Given the description of an element on the screen output the (x, y) to click on. 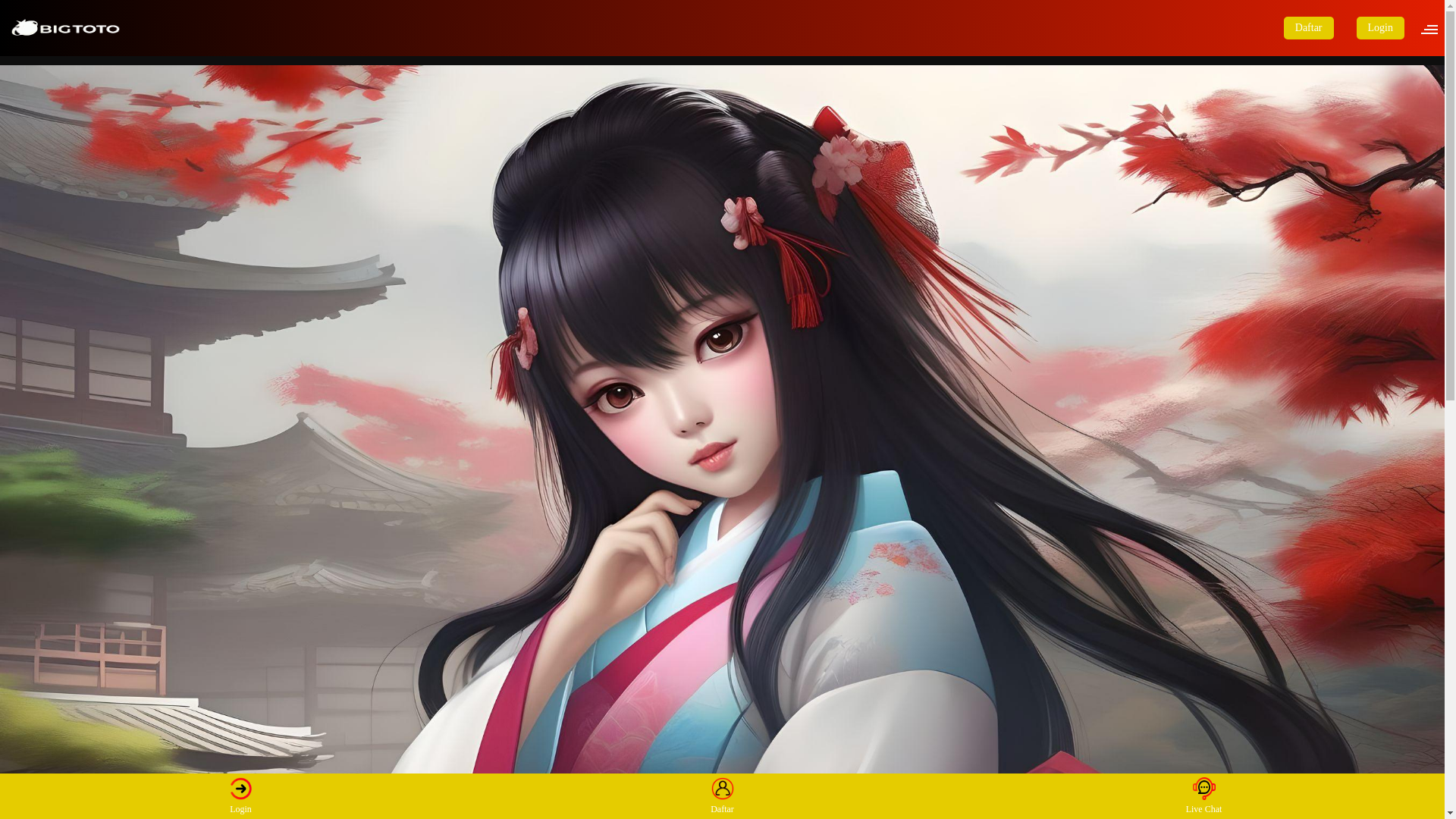
Login (1380, 27)
Daftar (1308, 27)
Login (240, 795)
Live Chat (1202, 795)
Daftar (722, 795)
